Given the description of an element on the screen output the (x, y) to click on. 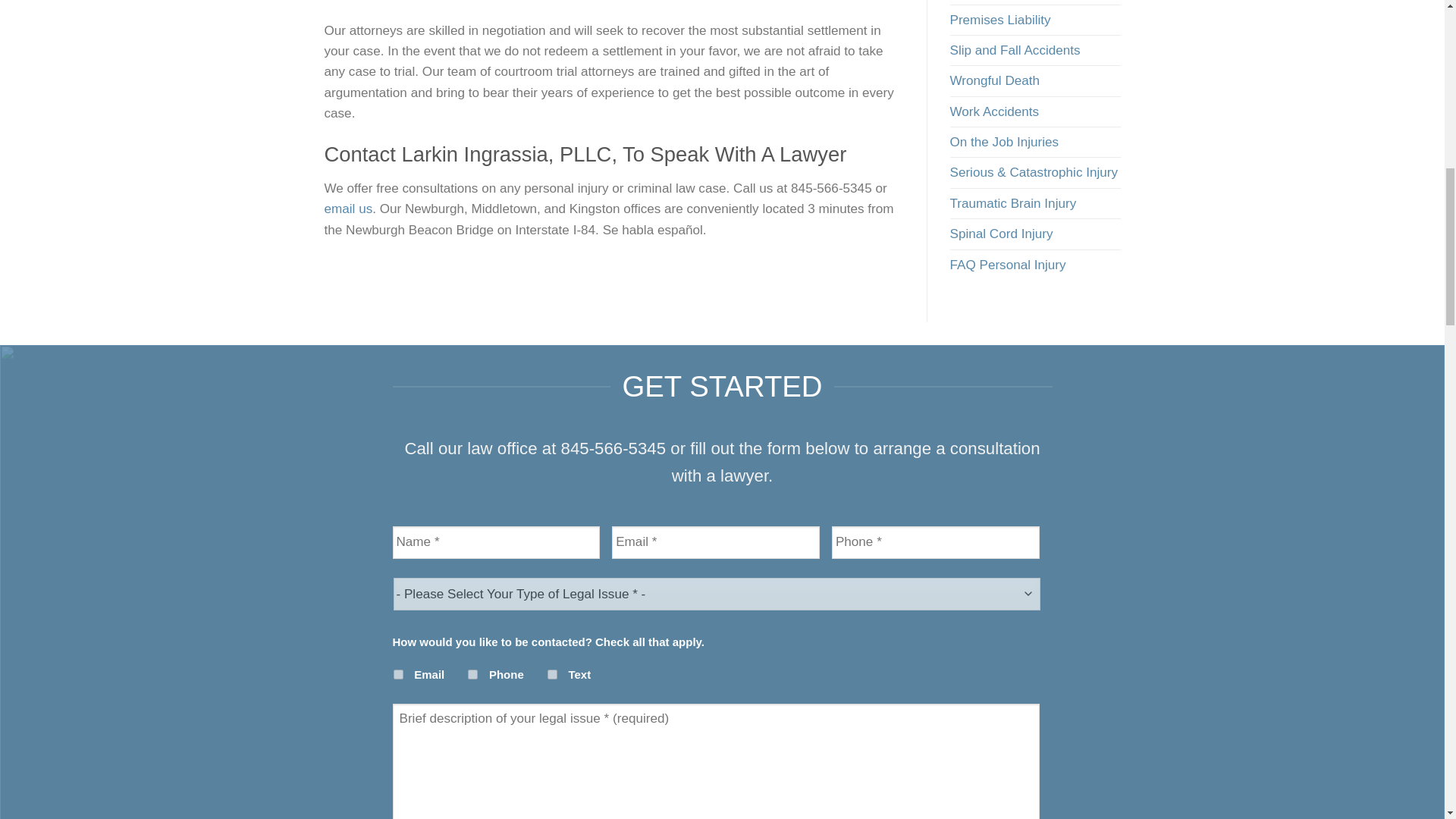
Wrongful Death (994, 80)
email us (348, 208)
Dog Bites (977, 2)
Phone (472, 674)
Premises Liability (999, 19)
Text (552, 674)
Slip and Fall Accidents (1014, 50)
Email (398, 674)
